Given the description of an element on the screen output the (x, y) to click on. 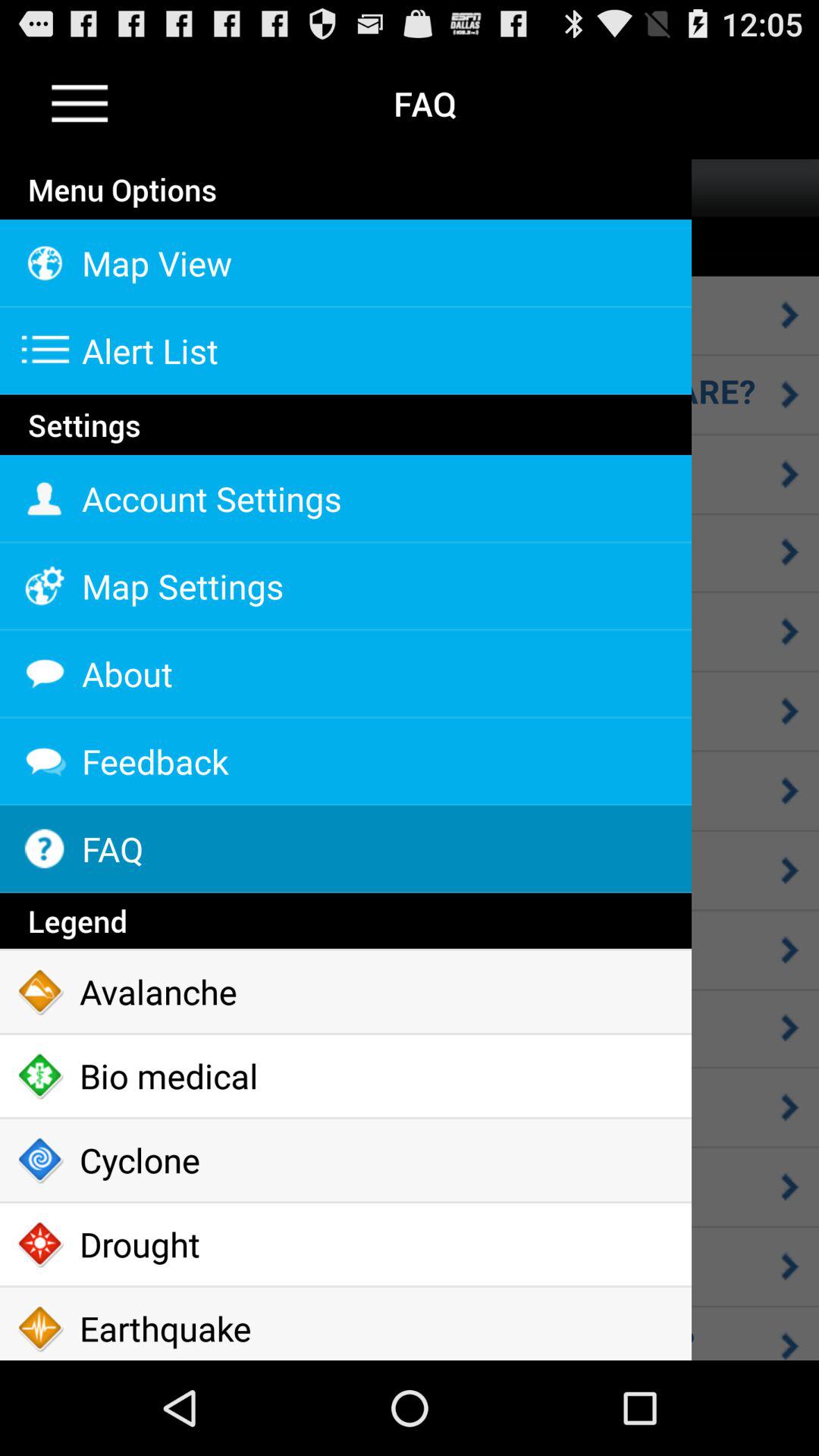
scroll until the cyclone icon (345, 1160)
